Given the description of an element on the screen output the (x, y) to click on. 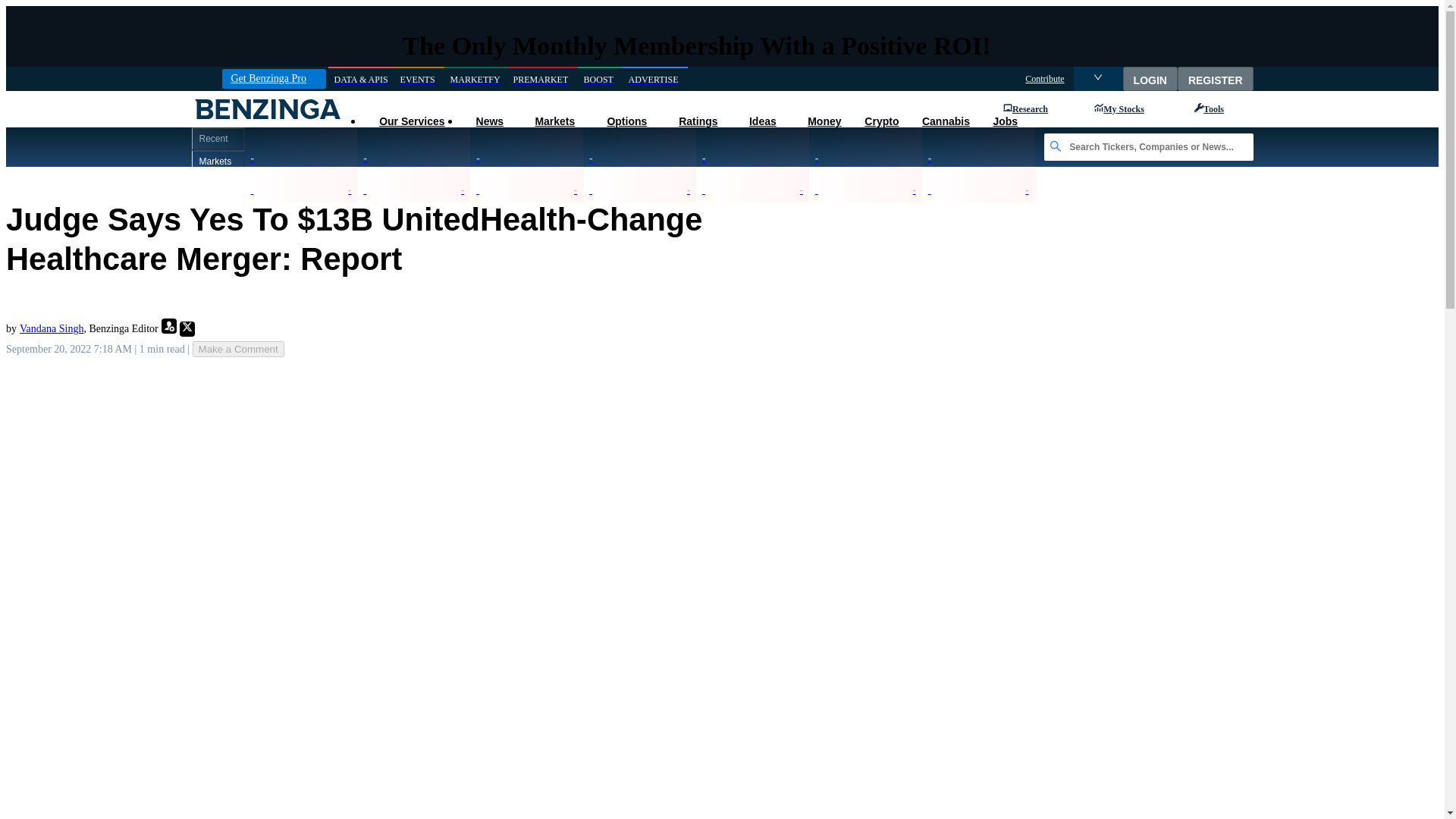
Our Services (411, 121)
News (489, 121)
Get Benzinga Pro (272, 78)
MARKETFY (475, 78)
ADVERTISE (655, 78)
BOOST (600, 78)
News (489, 121)
Contribute (1044, 78)
EVENTS (419, 78)
Our Services (411, 121)
